Given the description of an element on the screen output the (x, y) to click on. 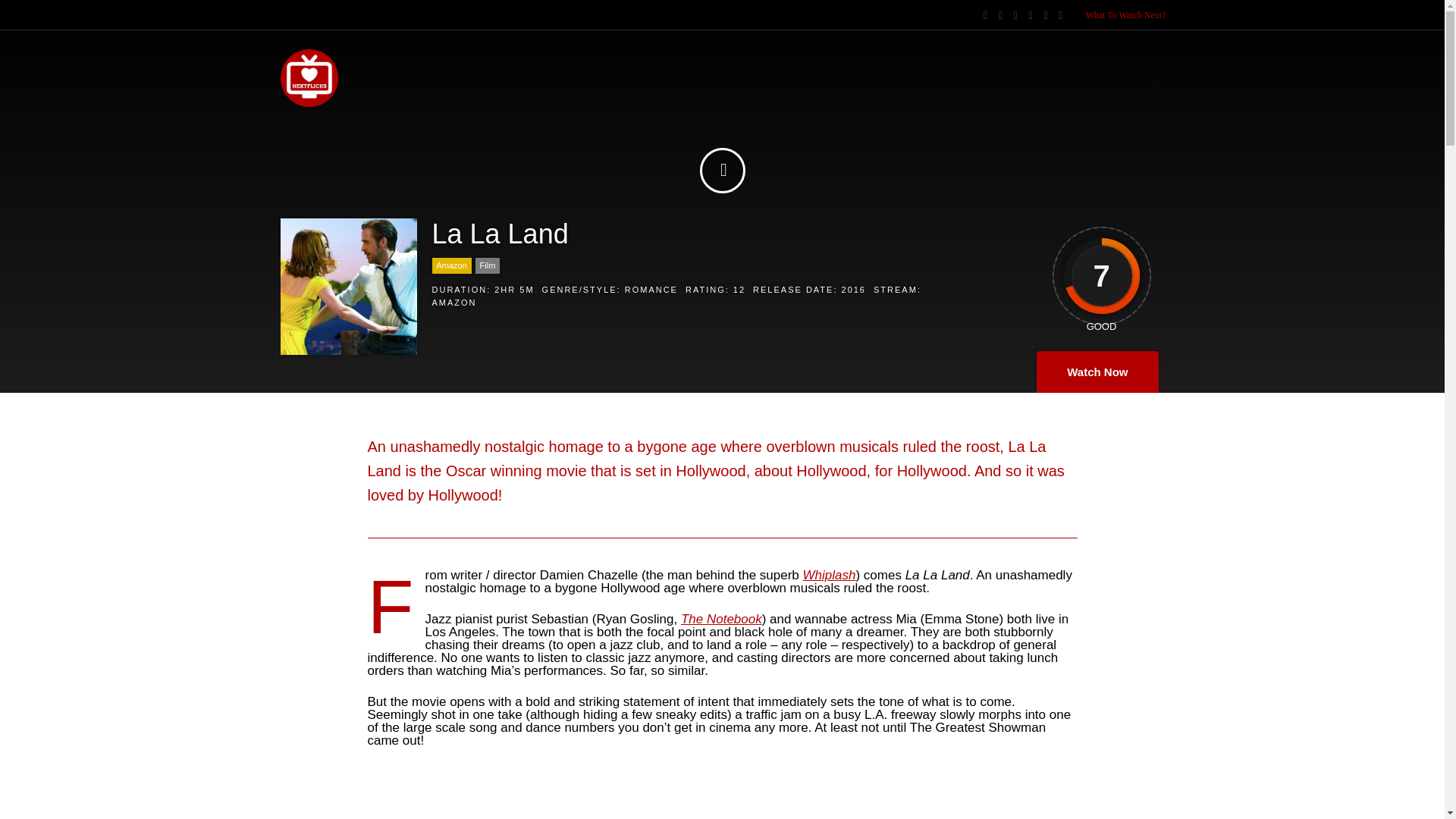
What To Watch Next? (1125, 15)
Ryan Gosling and Emma Stone talk La La Land (721, 798)
NextFlicks (309, 104)
